Given the description of an element on the screen output the (x, y) to click on. 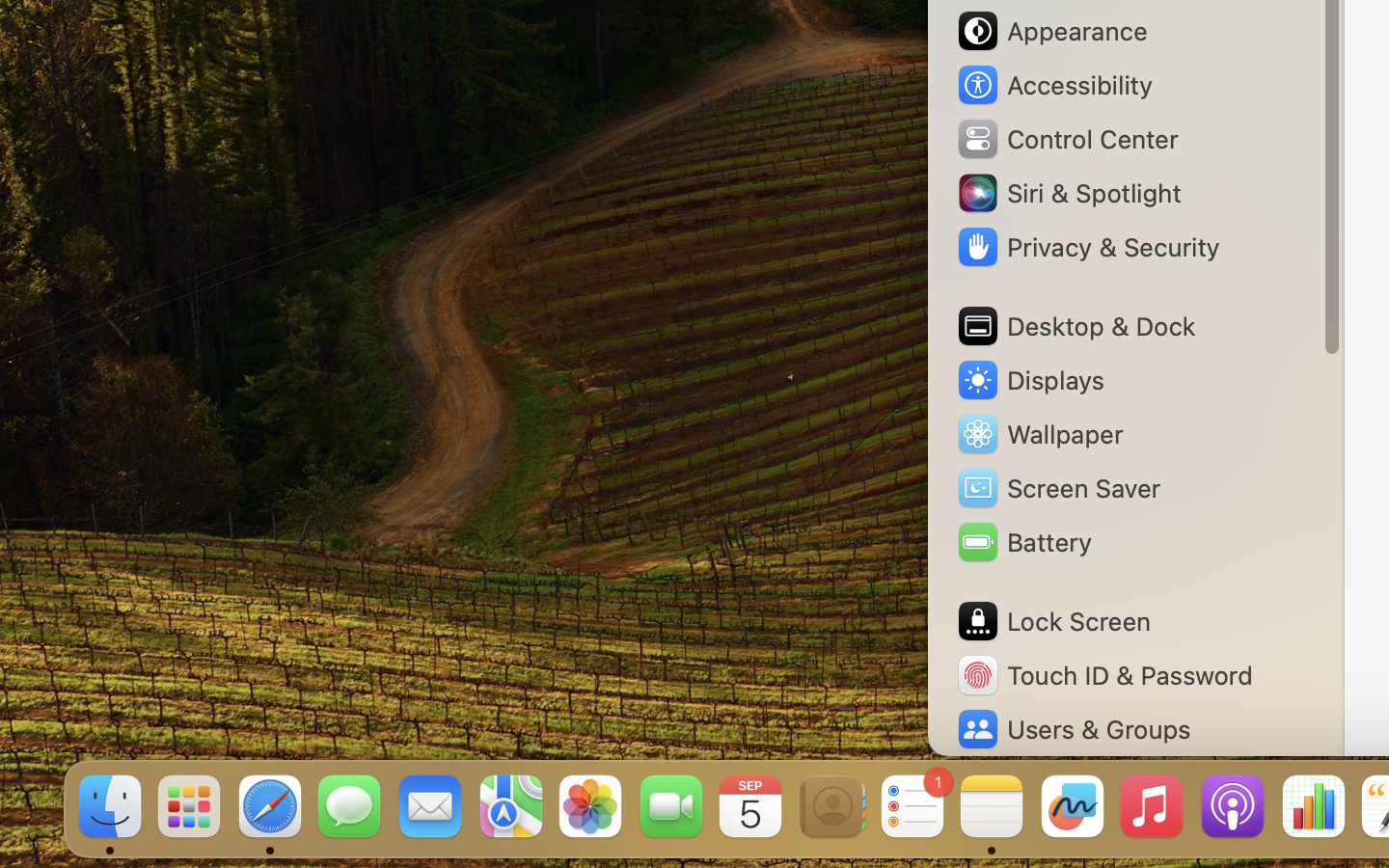
Appearance Element type: AXStaticText (1050, 30)
Wallpaper Element type: AXStaticText (1038, 433)
Screen Saver Element type: AXStaticText (1057, 487)
Battery Element type: AXStaticText (1022, 541)
Desktop & Dock Element type: AXStaticText (1075, 325)
